Given the description of an element on the screen output the (x, y) to click on. 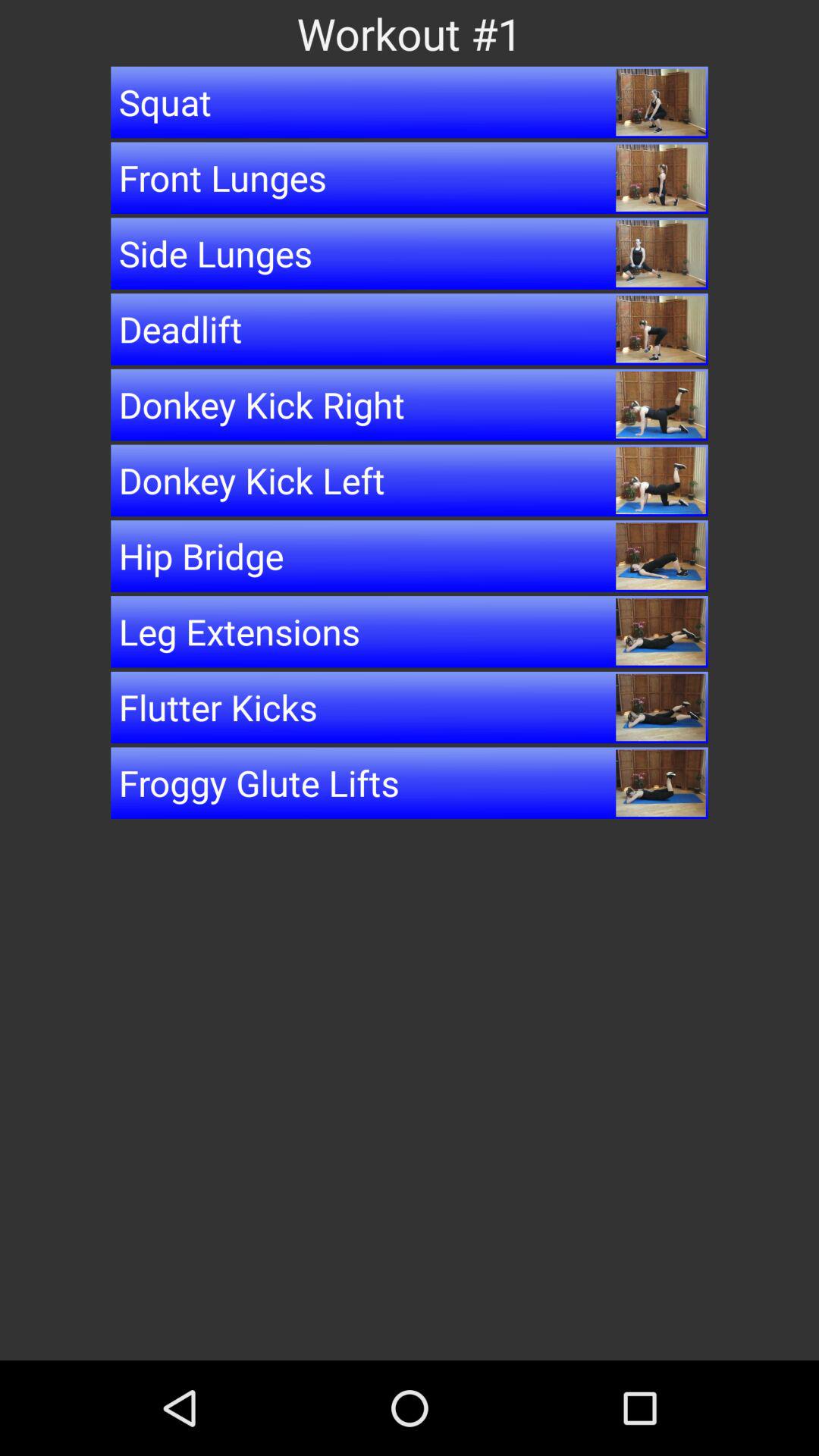
choose the deadlift (409, 329)
